Given the description of an element on the screen output the (x, y) to click on. 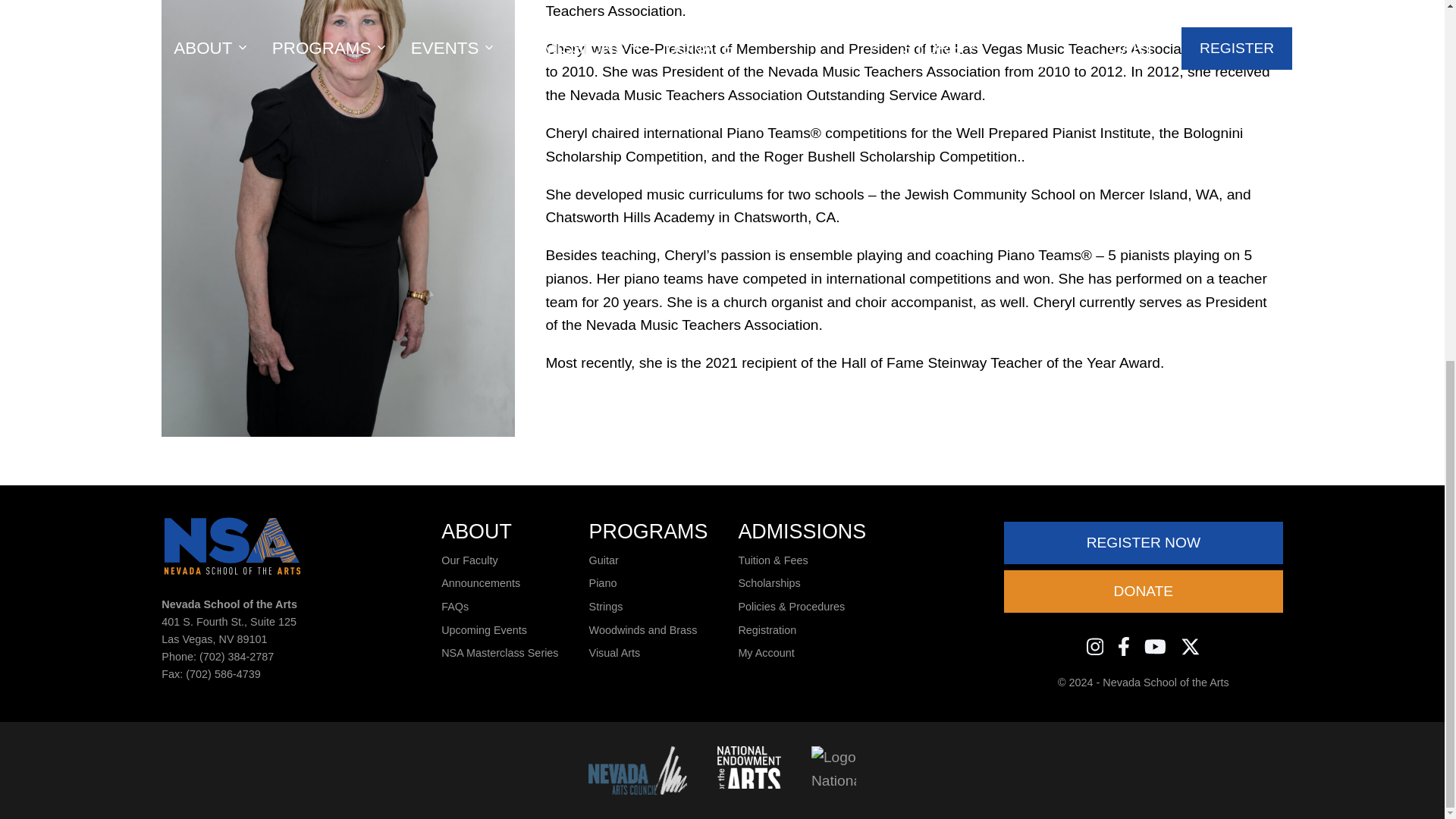
Follow us on X (1190, 646)
Follow us on Youtube (1155, 646)
Follow us on Instagram (1094, 646)
